Given the description of an element on the screen output the (x, y) to click on. 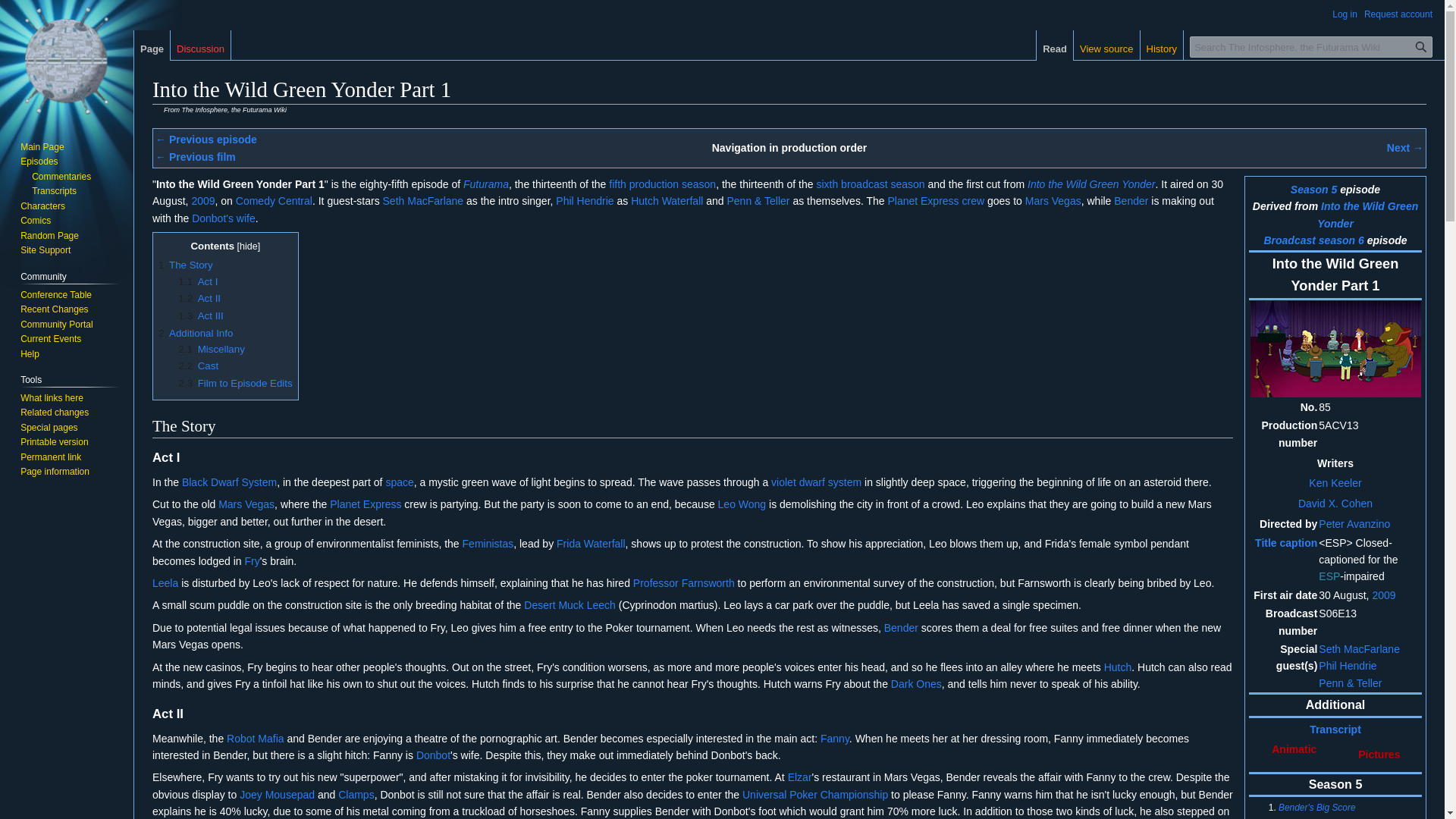
2009 (1382, 594)
Transcript (1334, 729)
Phil Hendrie (1347, 665)
Seth MacFarlane (1359, 648)
Into the Wild Green Yonder (1367, 214)
Peter Avanzino (1354, 523)
David X. Cohen (1335, 503)
Search (1420, 46)
wikipedia:extrasensory perception (1329, 576)
Ken Keeler (1334, 482)
ESP (1329, 576)
Into the Wild Green Yonder Part 2 (1405, 147)
Season 5 (1313, 189)
Animatic (1293, 748)
Broadcast season 6 (1312, 240)
